Given the description of an element on the screen output the (x, y) to click on. 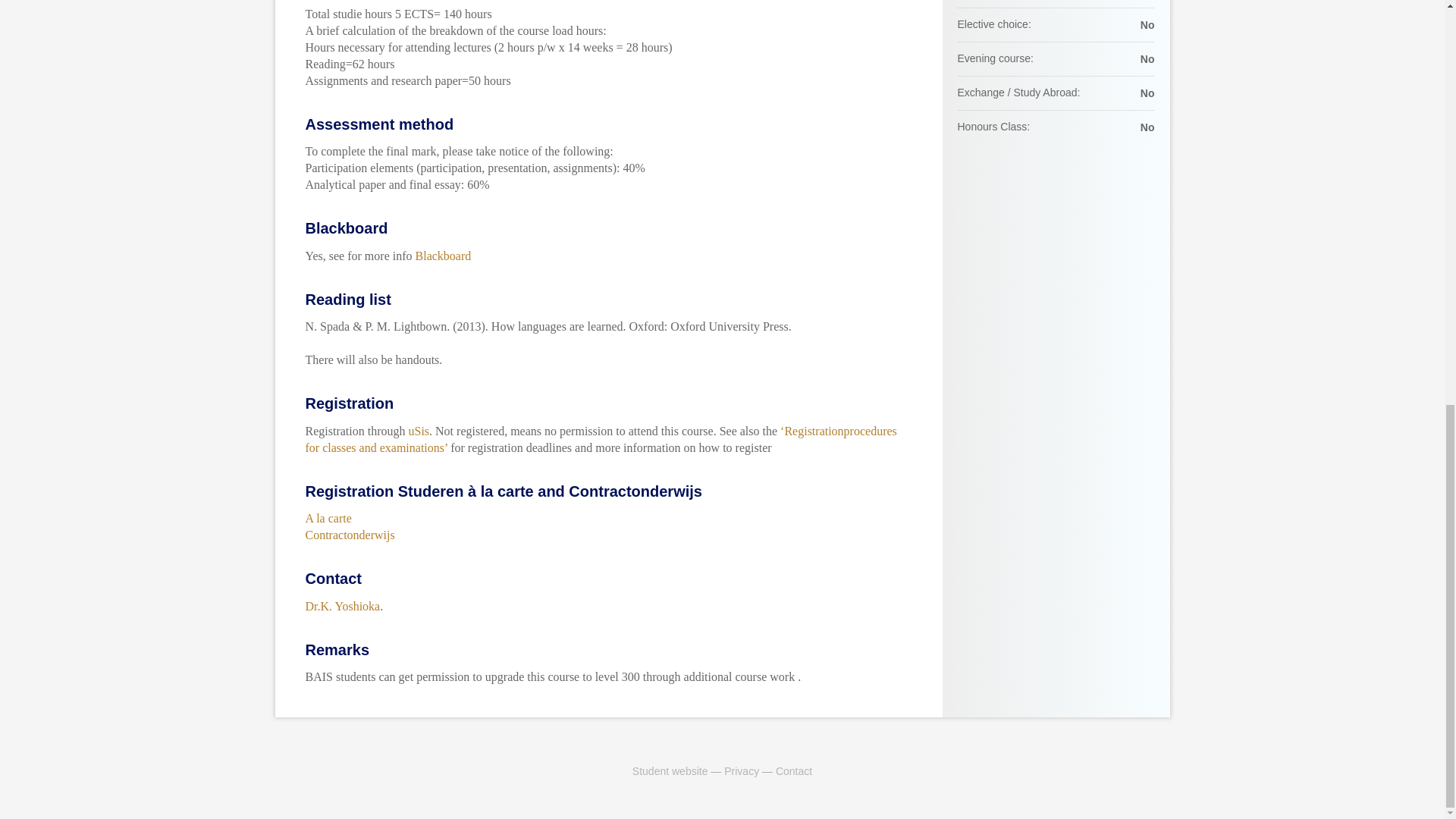
Privacy (740, 770)
Contractonderwijs (349, 534)
Blackboard (442, 254)
Contact (794, 770)
A la carte (327, 517)
Student website (669, 770)
uSis (418, 431)
Dr.K. Yoshioka (342, 604)
